Given the description of an element on the screen output the (x, y) to click on. 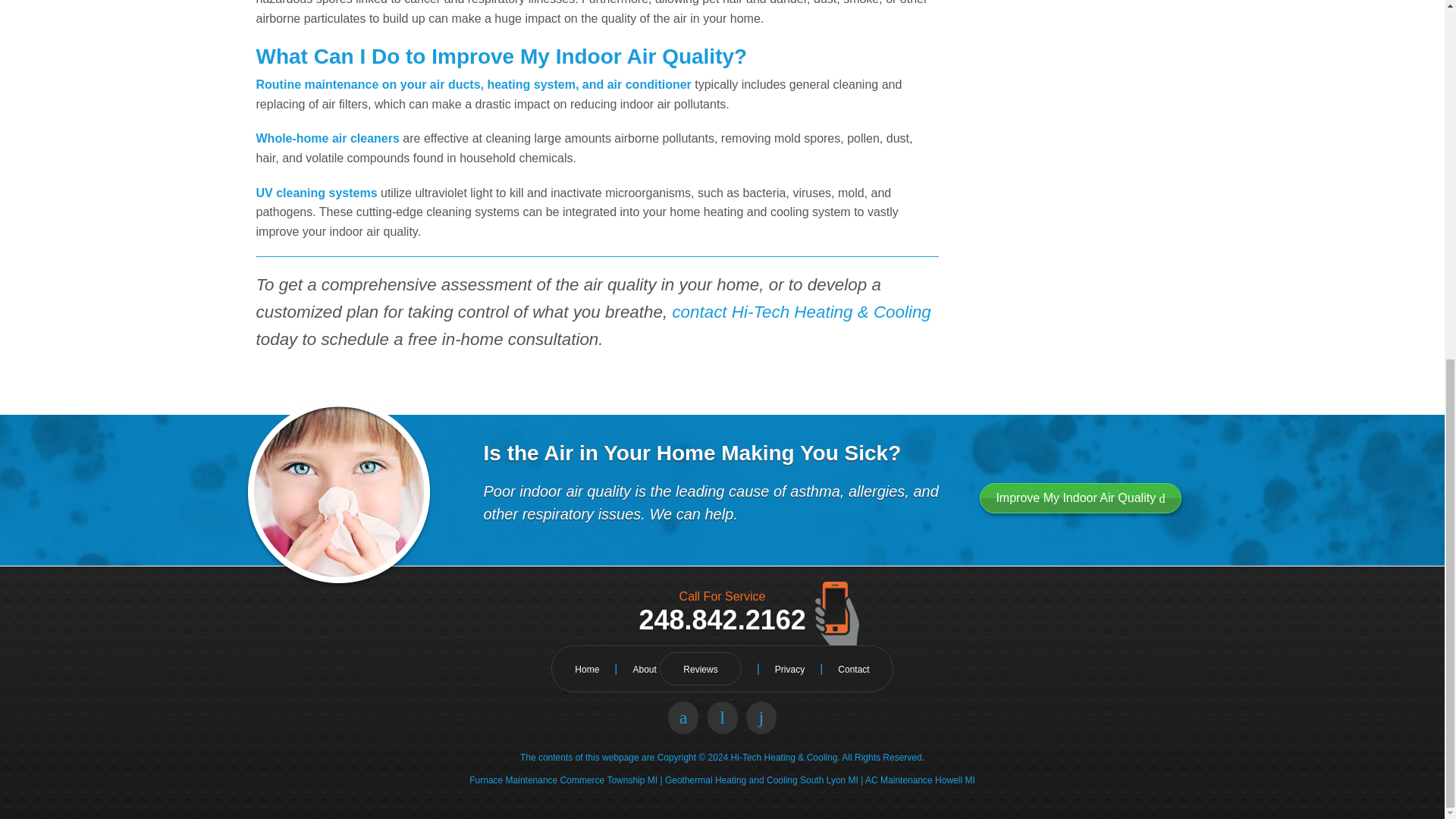
Furnace Maintenance Commerce Township MI (563, 779)
Reviews (699, 669)
Contact (853, 669)
AC Maintenance Howell MI (919, 779)
Home (586, 669)
Geothermal Heating and Cooling South Lyon MI (762, 779)
AC Maintenance Howell MI (919, 779)
About (643, 669)
Furnace Maintenance Commerce Township MI (563, 779)
Privacy (789, 669)
